Given the description of an element on the screen output the (x, y) to click on. 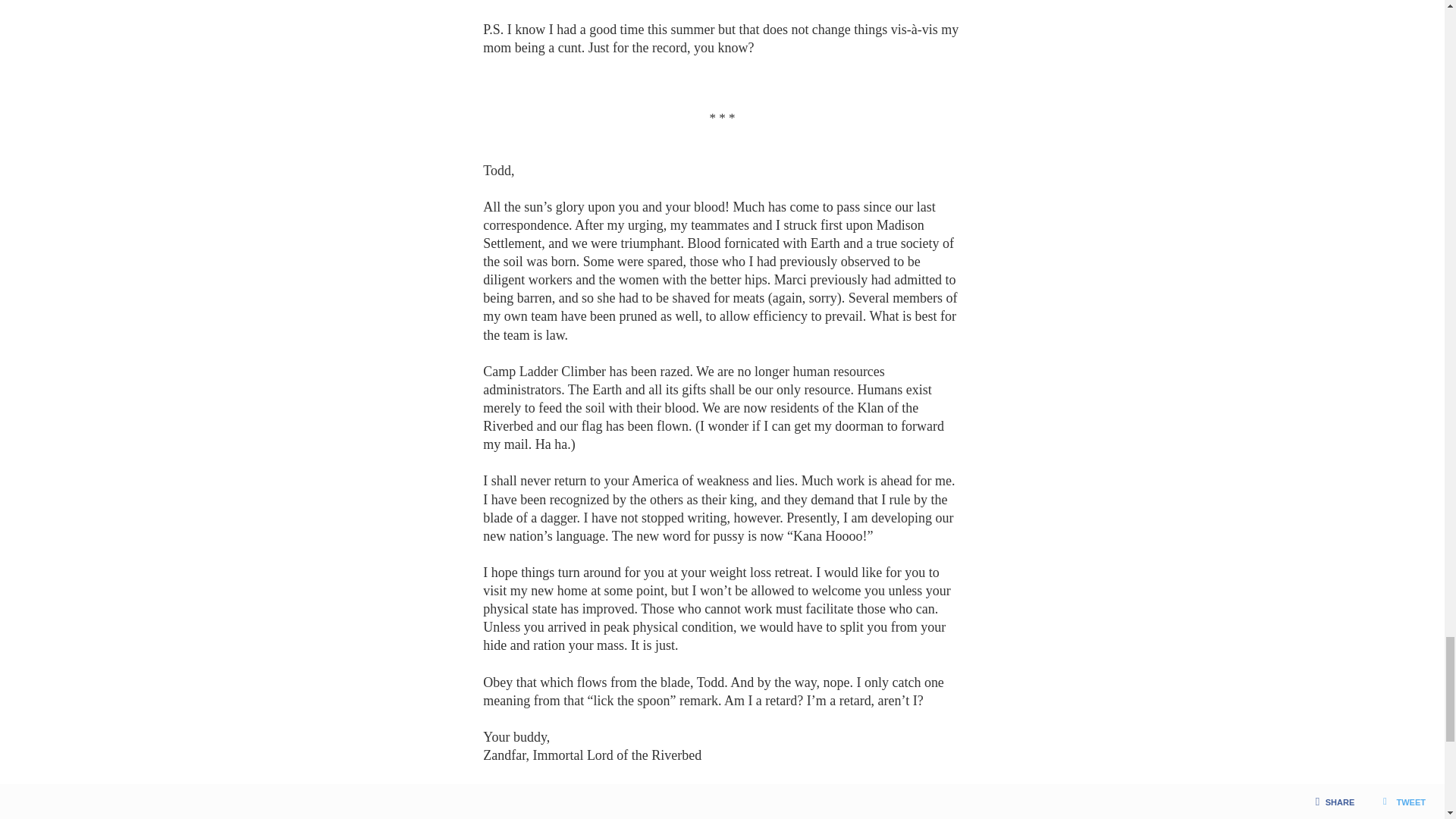
advice (502, 812)
travel (575, 812)
stories (540, 812)
